Given the description of an element on the screen output the (x, y) to click on. 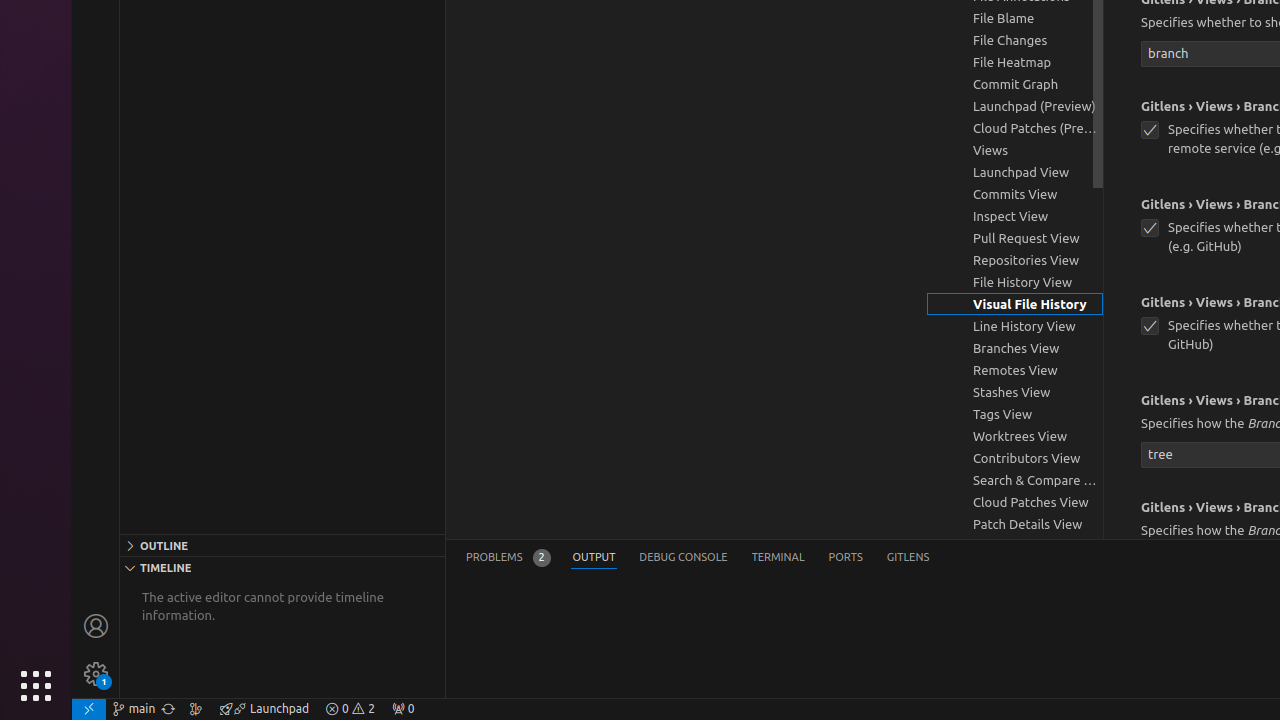
Pull Request View, group Element type: tree-item (1015, 238)
More Actions... (Shift+F9) Element type: push-button (1116, 505)
Problems (Ctrl+Shift+M) - Total 2 Problems Element type: page-tab (507, 557)
Cloud Patches (Preview), group Element type: tree-item (1015, 128)
Views, group Element type: tree-item (1015, 150)
